Given the description of an element on the screen output the (x, y) to click on. 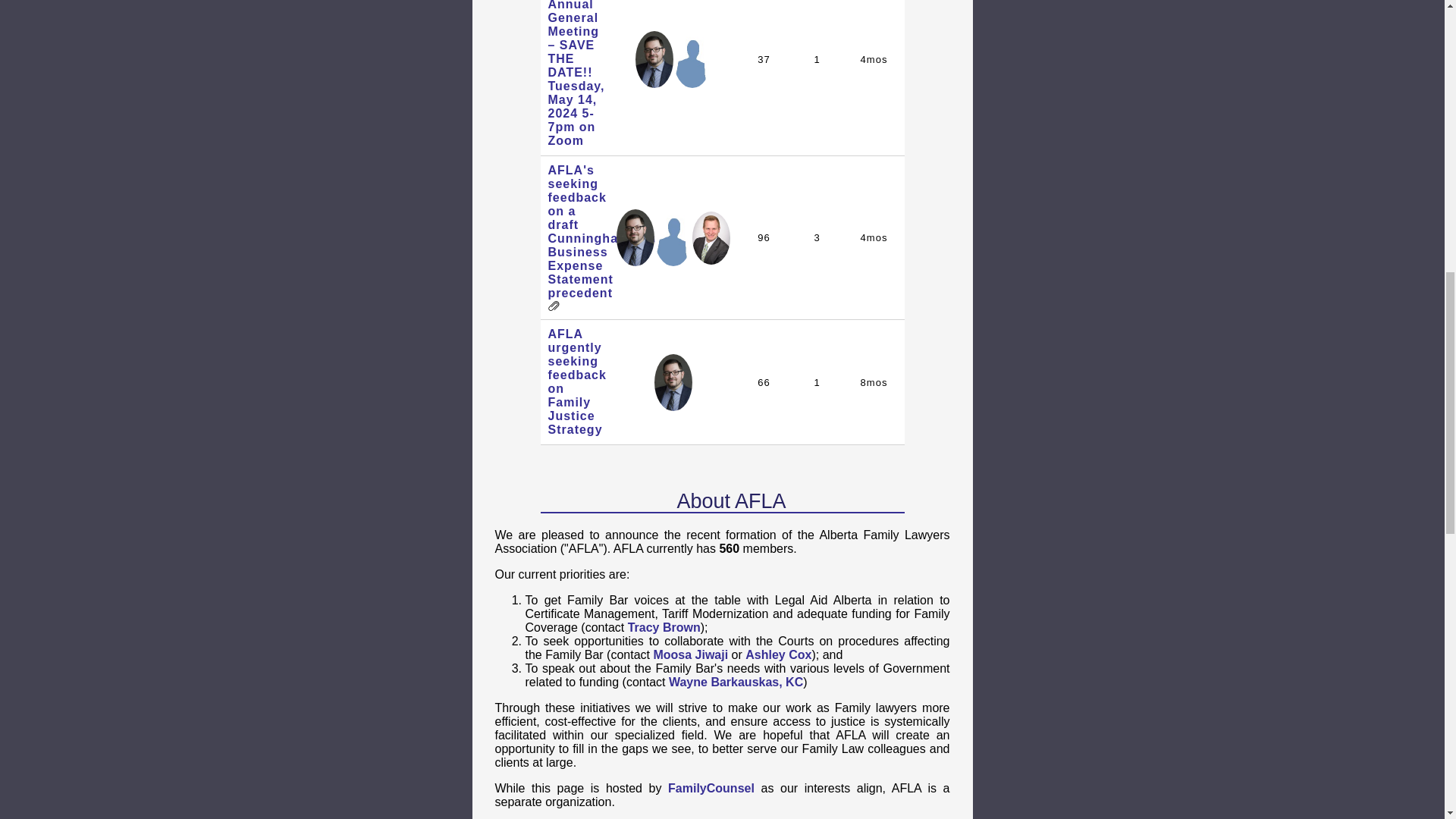
FamilyCounsel (711, 788)
Moosa Jiwaji (690, 654)
Ashley Cox (777, 654)
Tracy Brown (663, 626)
Wayne Barkauskas, KC (735, 681)
